Given the description of an element on the screen output the (x, y) to click on. 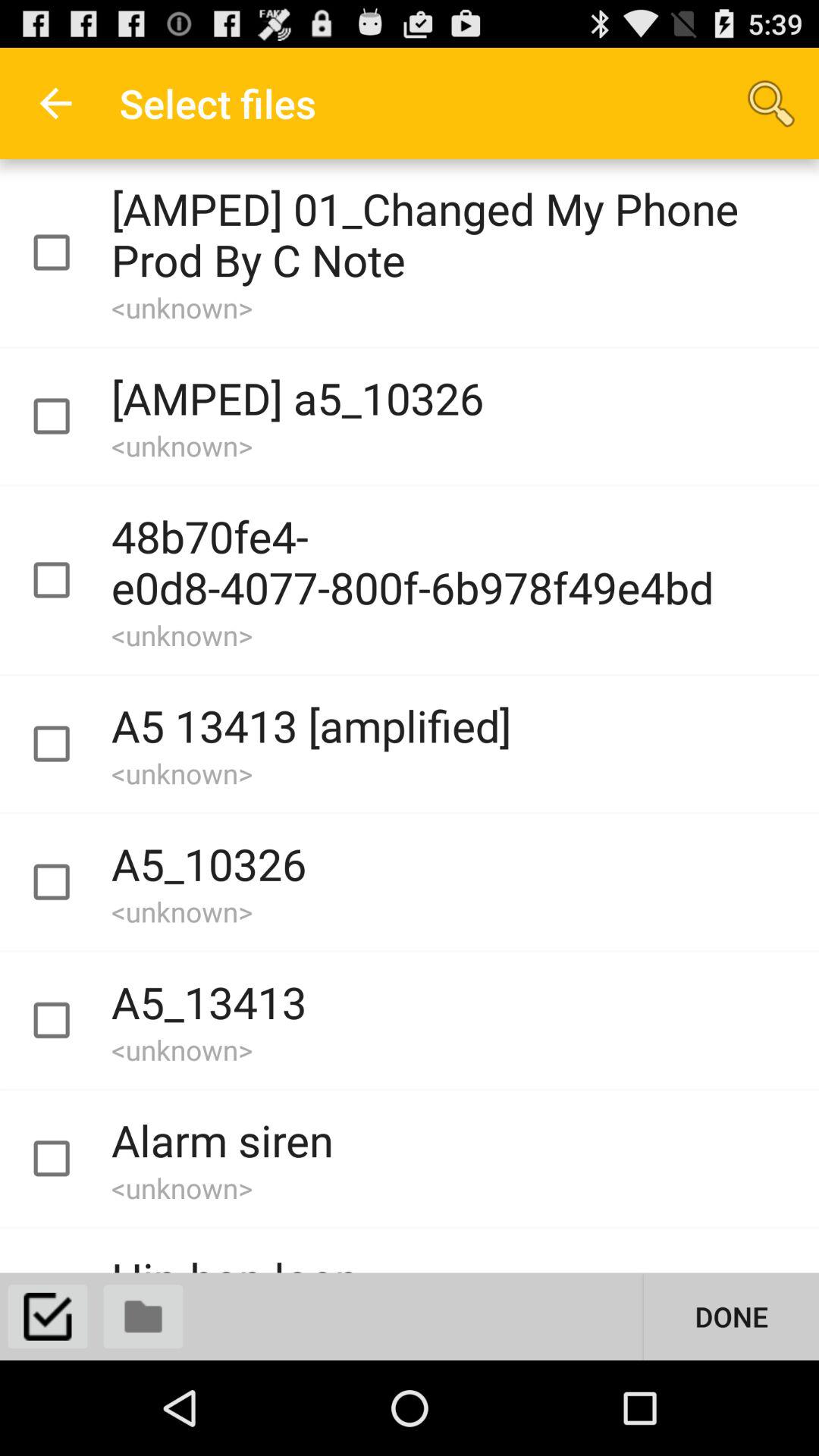
select file (65, 1020)
